Given the description of an element on the screen output the (x, y) to click on. 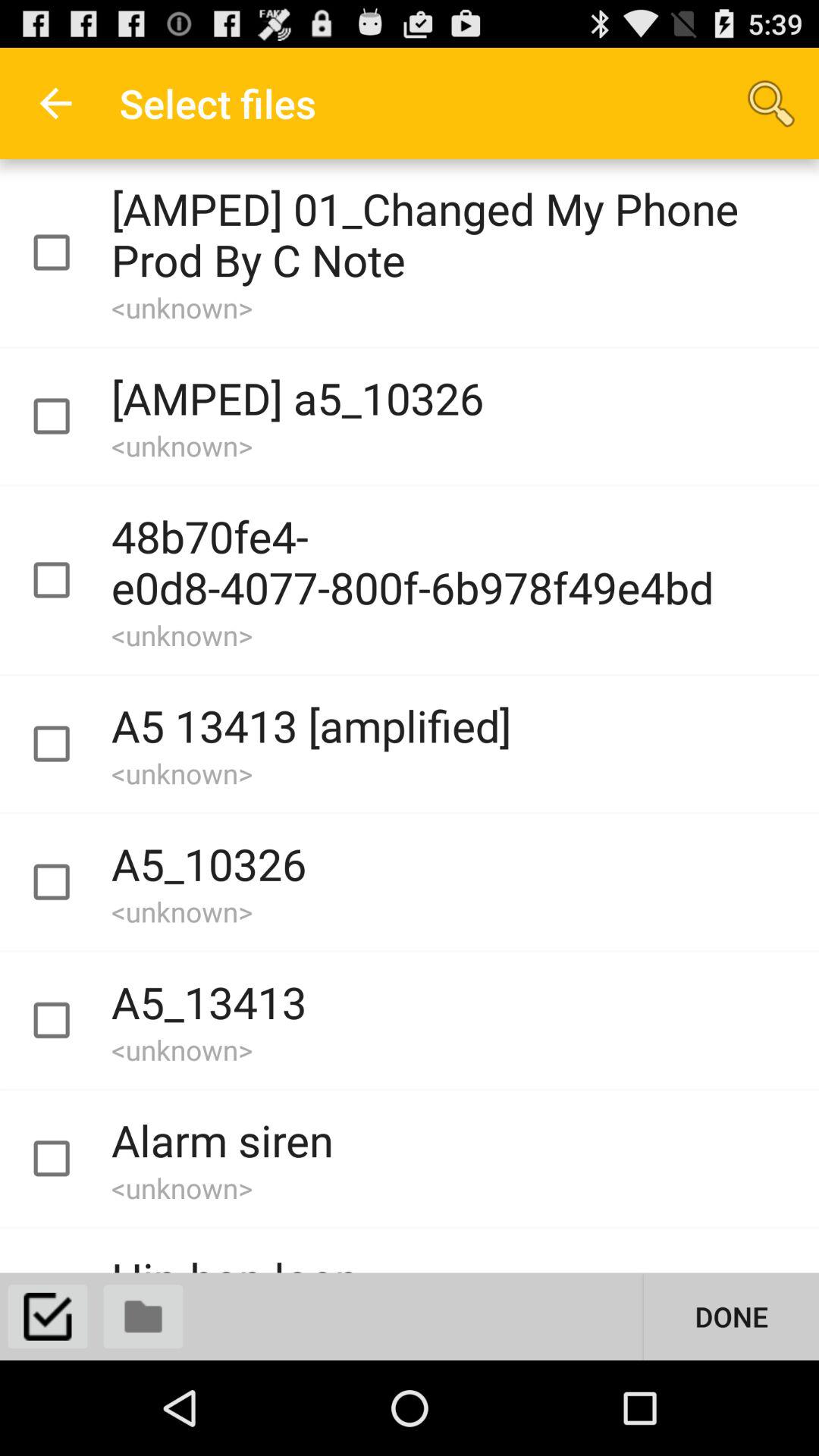
select file (65, 1020)
